Given the description of an element on the screen output the (x, y) to click on. 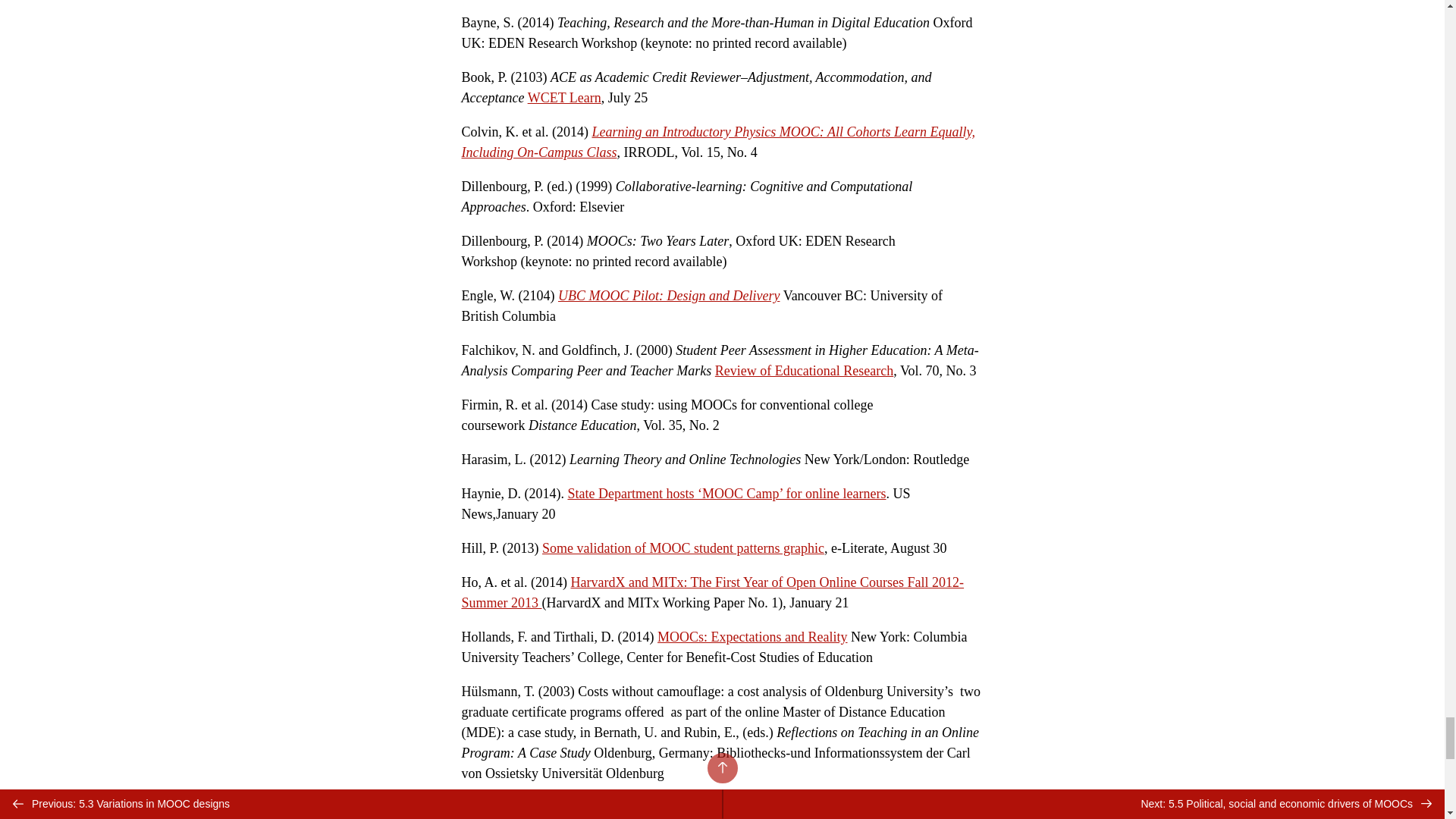
Inside Higher Education (709, 807)
MOOCs: Expectations and Reality (752, 636)
UBC MOOC Pilot: Design and Delivery (667, 295)
WCET Learn (564, 97)
Some validation of MOOC student patterns graphic (682, 548)
Review of Educational Research (803, 370)
